Given the description of an element on the screen output the (x, y) to click on. 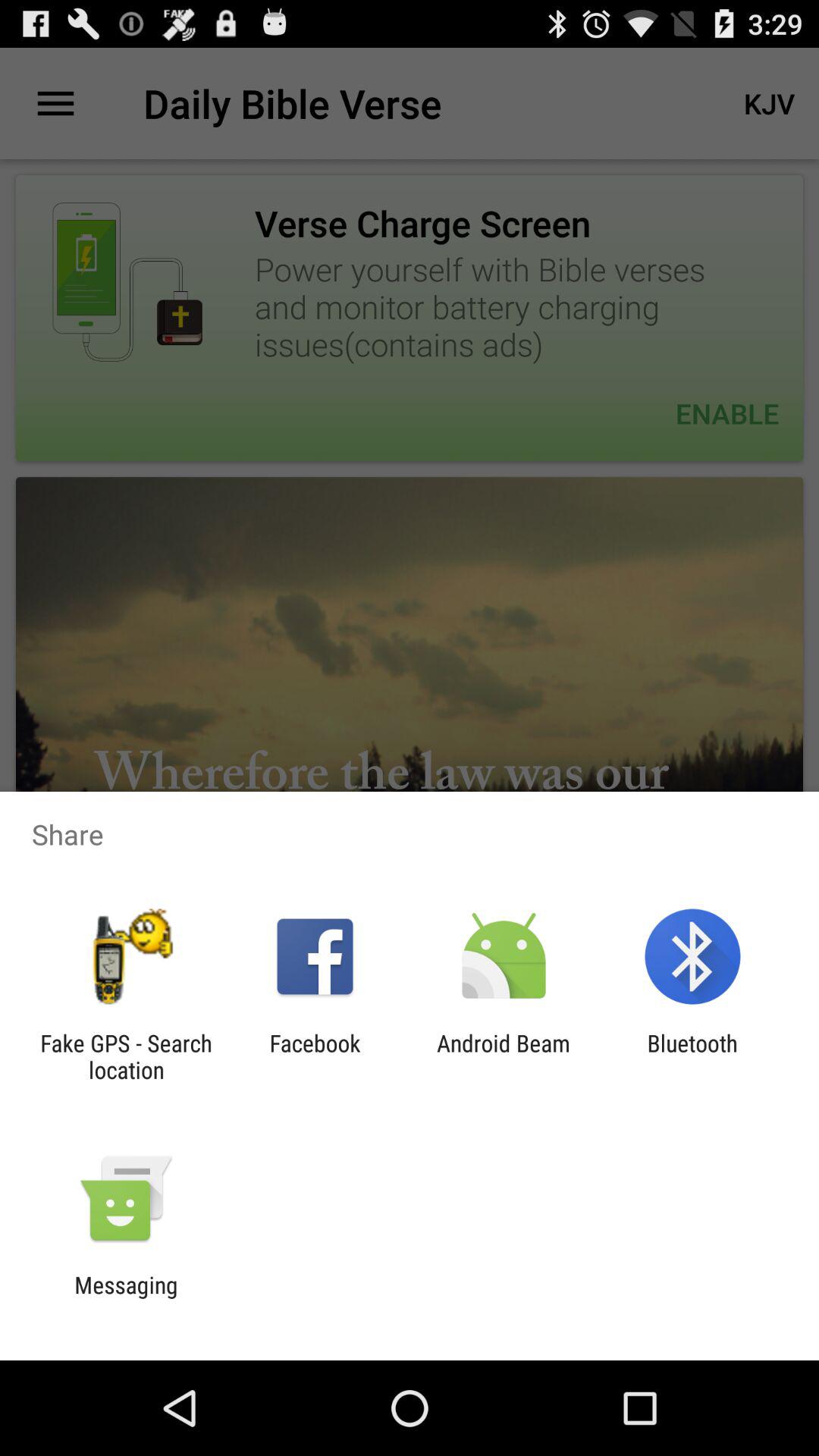
open the icon next to bluetooth item (503, 1056)
